Given the description of an element on the screen output the (x, y) to click on. 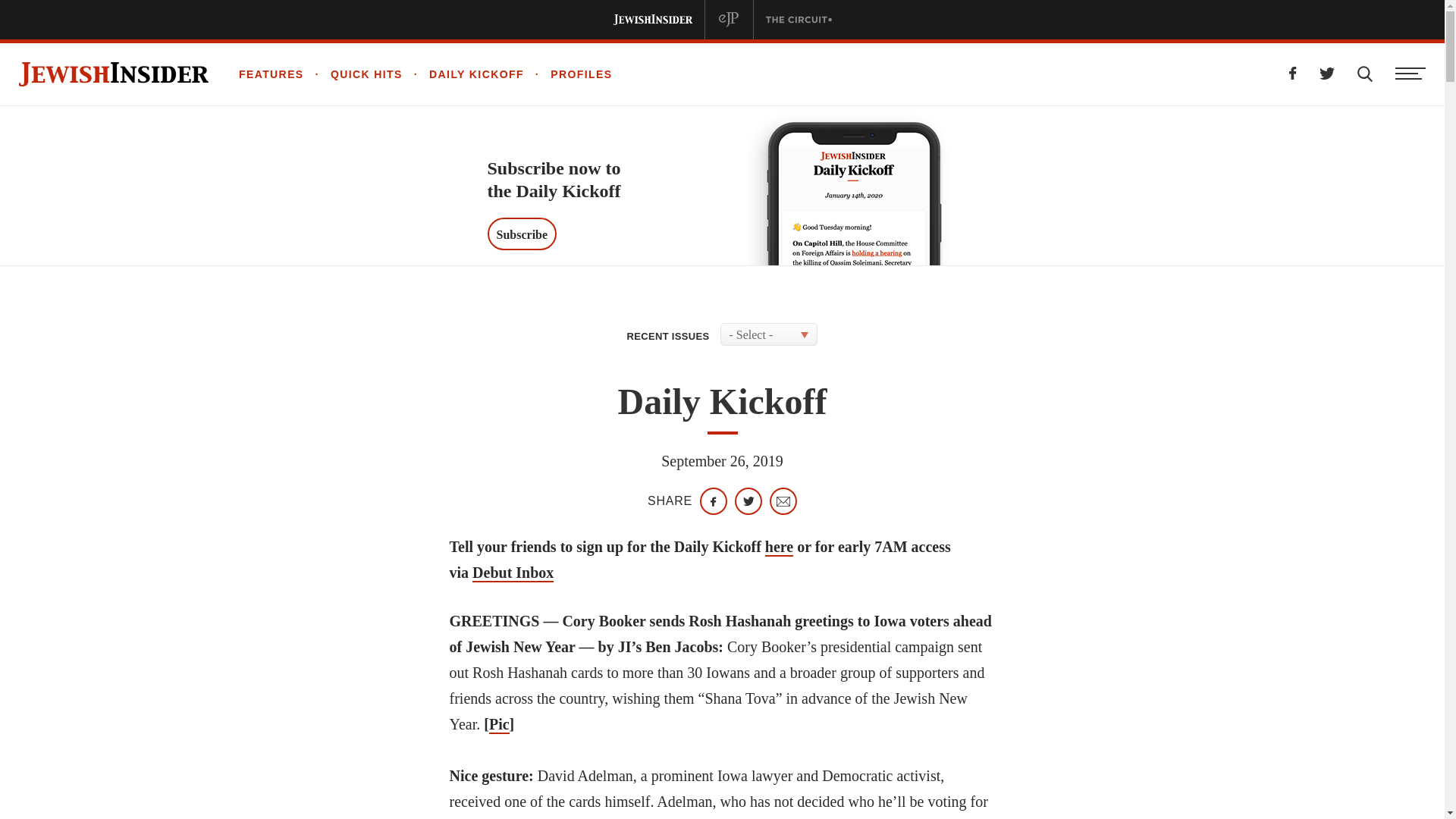
here (779, 547)
QUICK HITS (353, 73)
Debut Inbox (512, 573)
PROFILES (568, 73)
Pic (499, 724)
DAILY KICKOFF (463, 73)
FEATURES (271, 73)
Subscribe (521, 233)
